Given the description of an element on the screen output the (x, y) to click on. 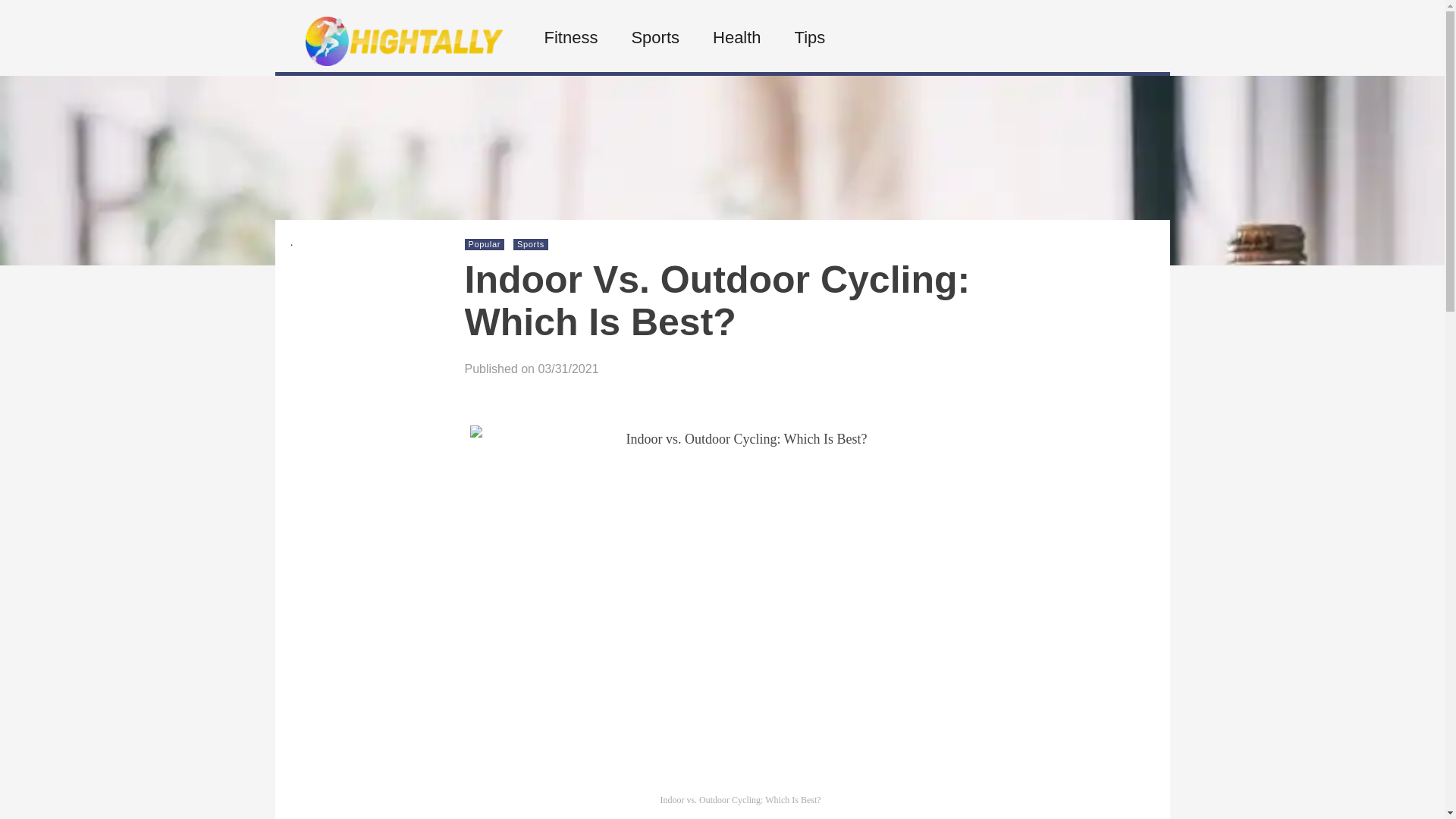
Tips (807, 37)
Fitness (568, 37)
Sports (530, 243)
Hightally (403, 61)
Popular (484, 243)
Health (735, 37)
Sports (653, 37)
